Given the description of an element on the screen output the (x, y) to click on. 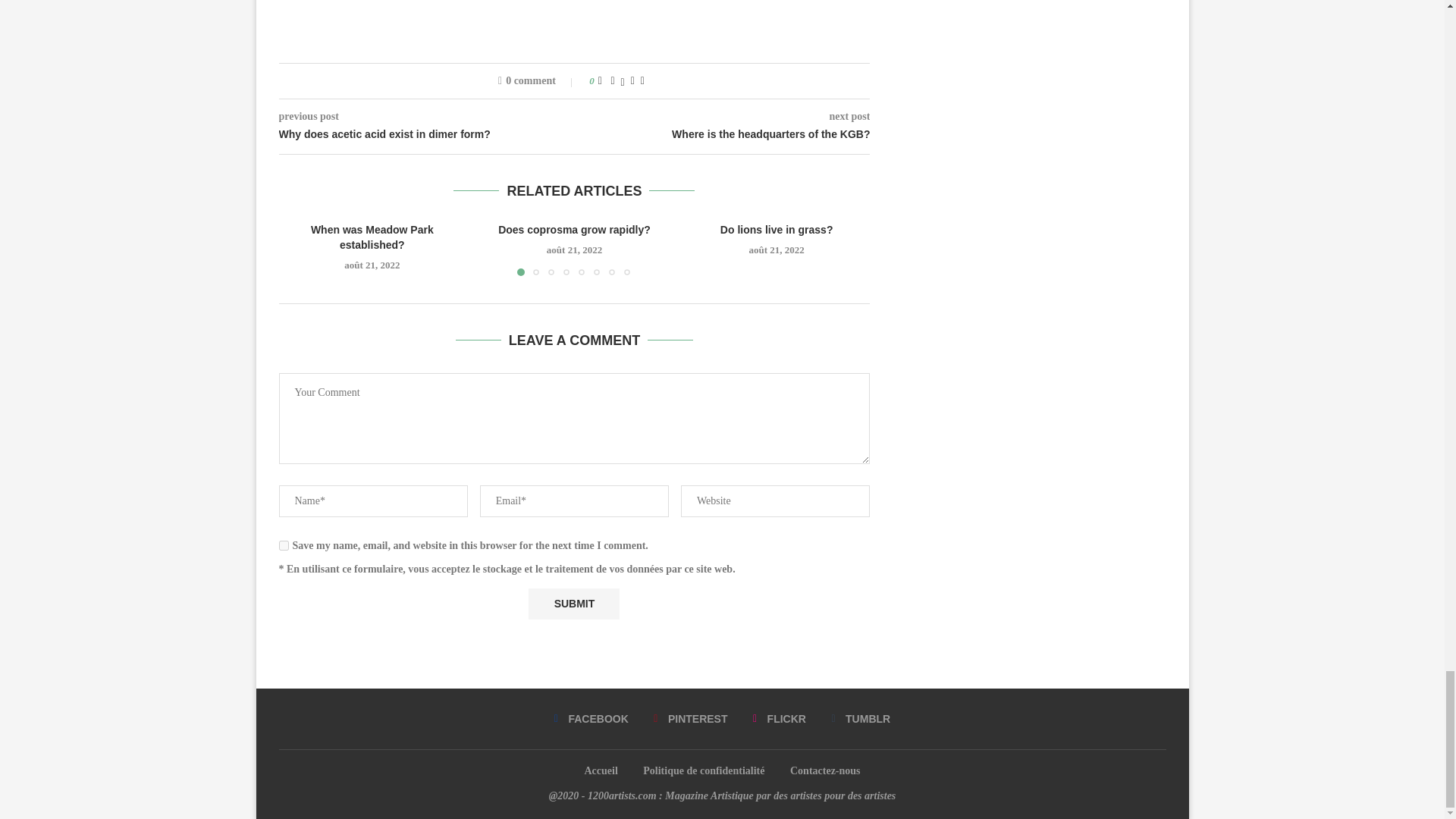
Do lions live in grass? (776, 229)
Where is the headquarters of the KGB? (722, 134)
yes (283, 545)
When was Meadow Park established? (372, 236)
Why does acetic acid exist in dimer form? (427, 134)
Submit (574, 603)
Does coprosma grow rapidly? (573, 229)
